Given the description of an element on the screen output the (x, y) to click on. 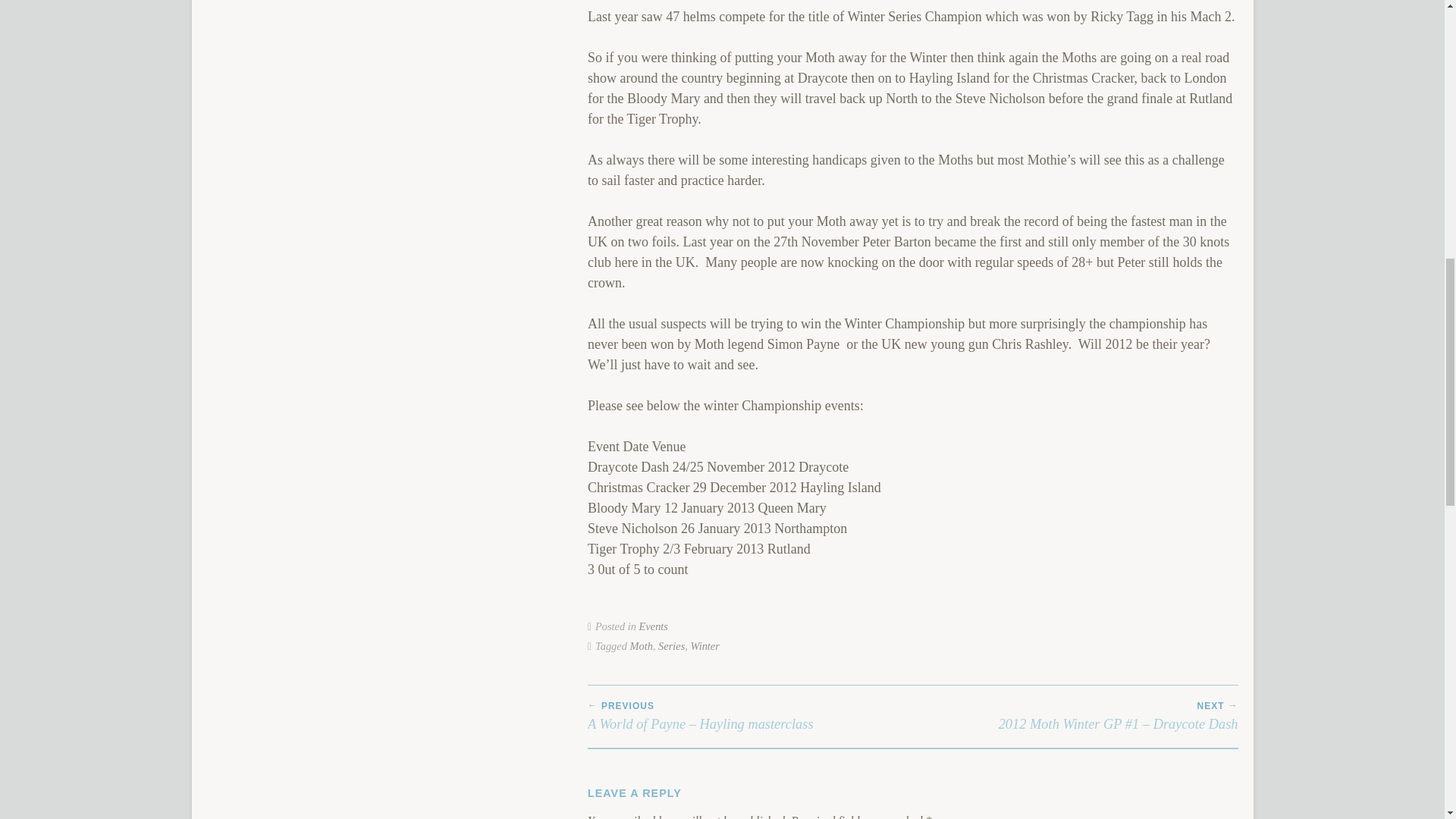
Events (653, 625)
Series (671, 645)
Moth (640, 645)
Winter (704, 645)
